Given the description of an element on the screen output the (x, y) to click on. 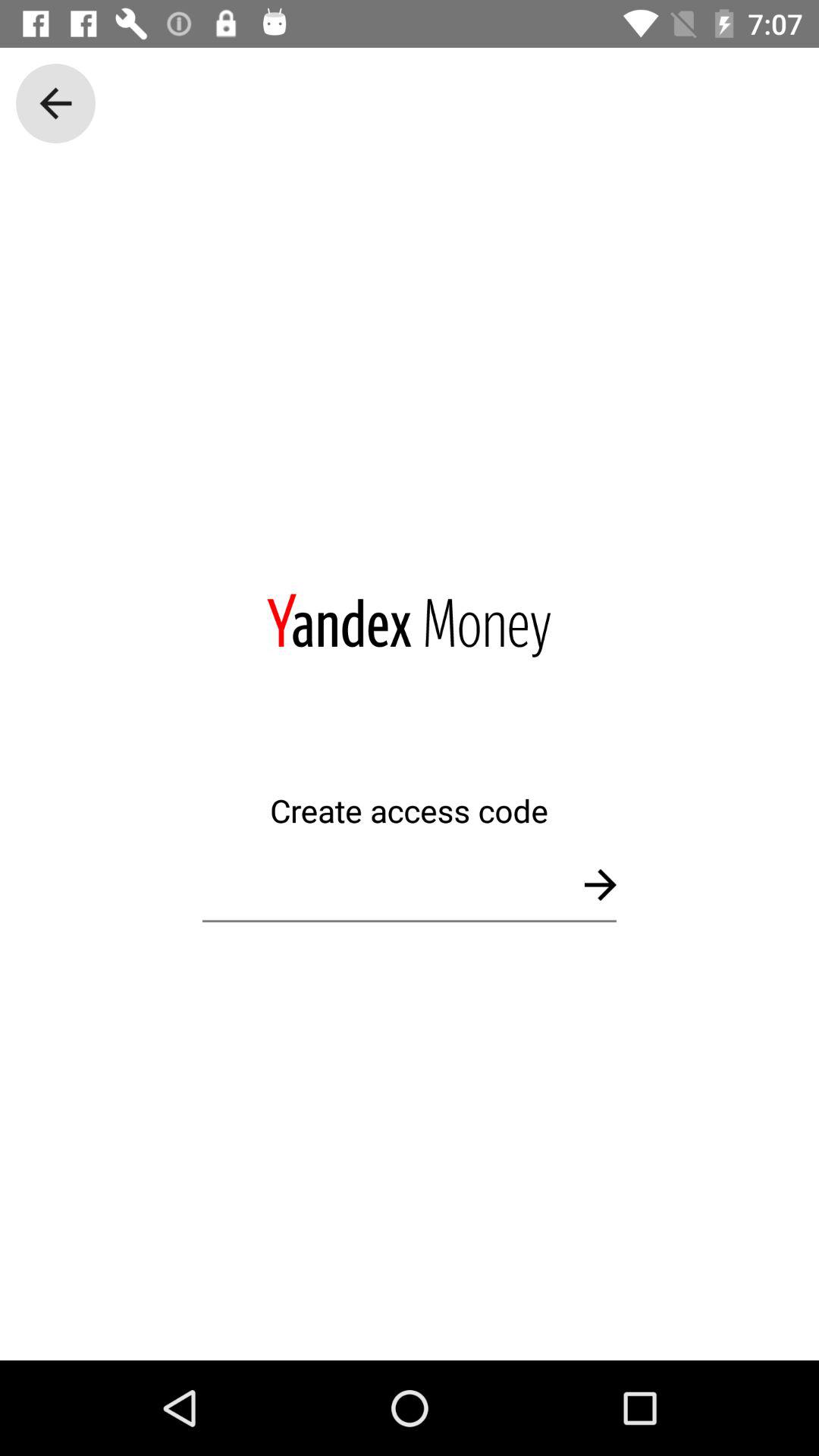
turn off the item on the right (600, 884)
